Given the description of an element on the screen output the (x, y) to click on. 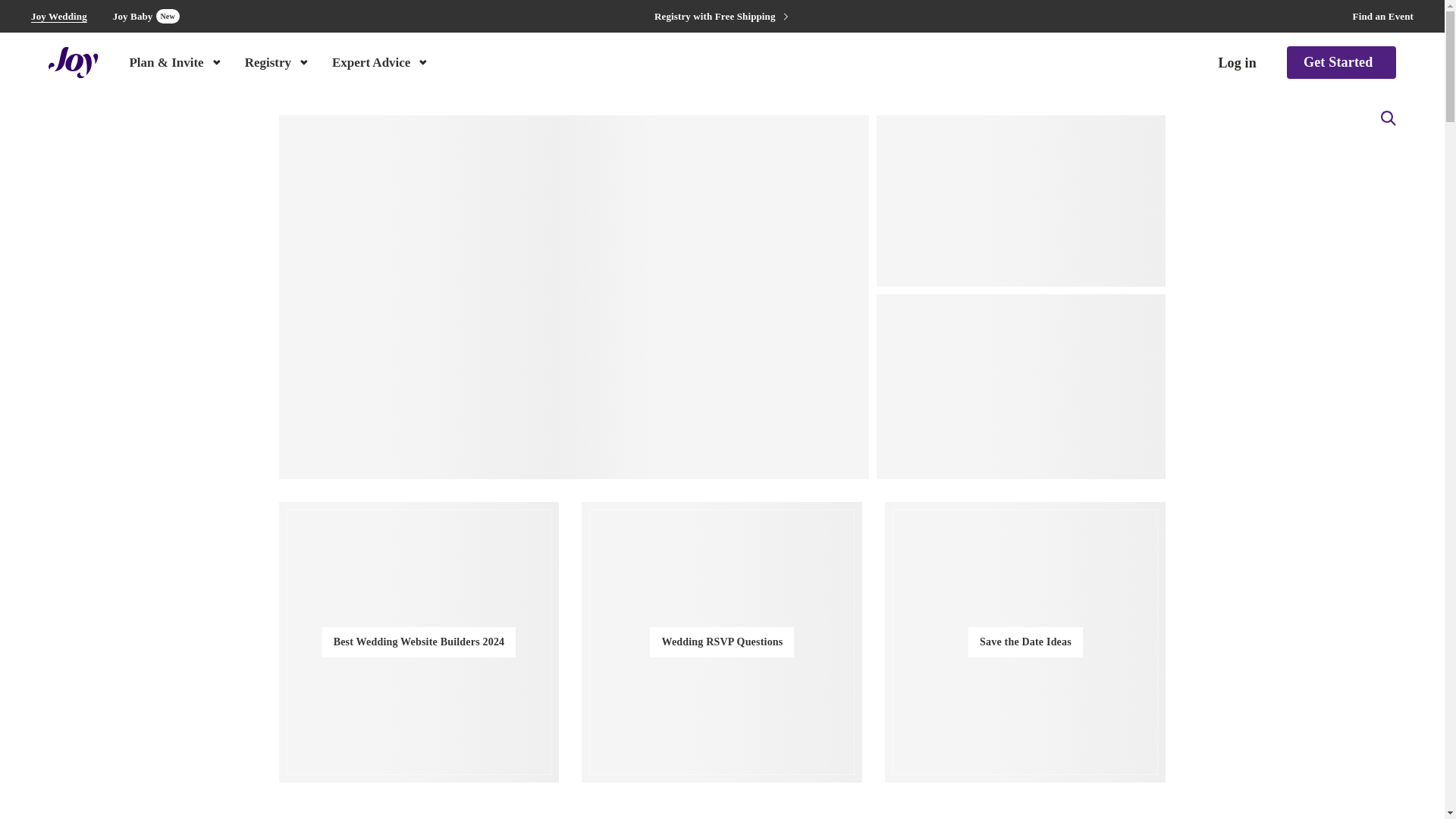
Registry (277, 61)
Joy Wedding (58, 16)
Get Started (1341, 61)
Expert Advice (380, 61)
Find an Event (1382, 16)
How Much Do Wedding Invitations Cost? (146, 16)
